Given the description of an element on the screen output the (x, y) to click on. 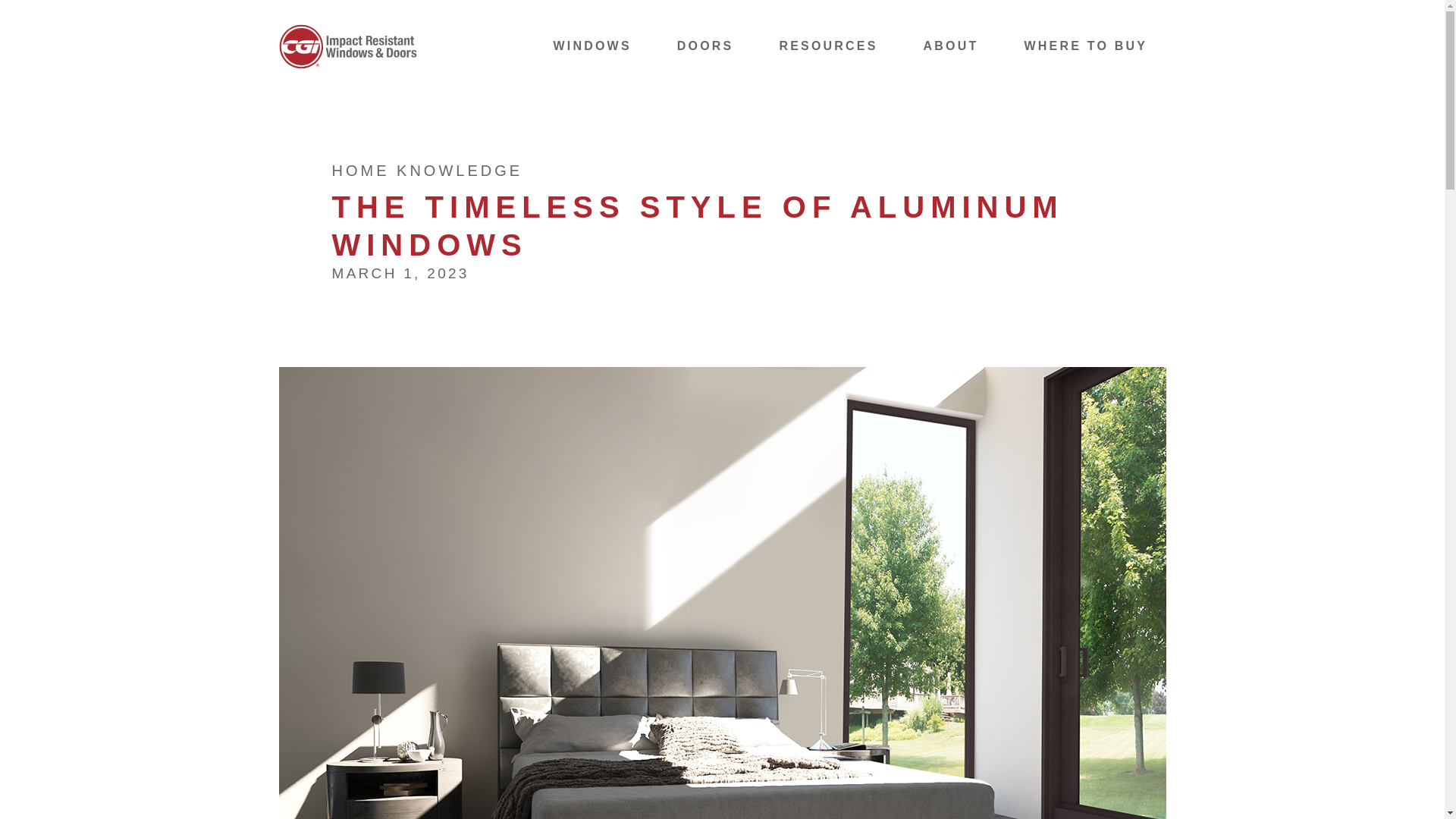
WHERE TO BUY (1085, 46)
RESOURCES (827, 46)
